Given the description of an element on the screen output the (x, y) to click on. 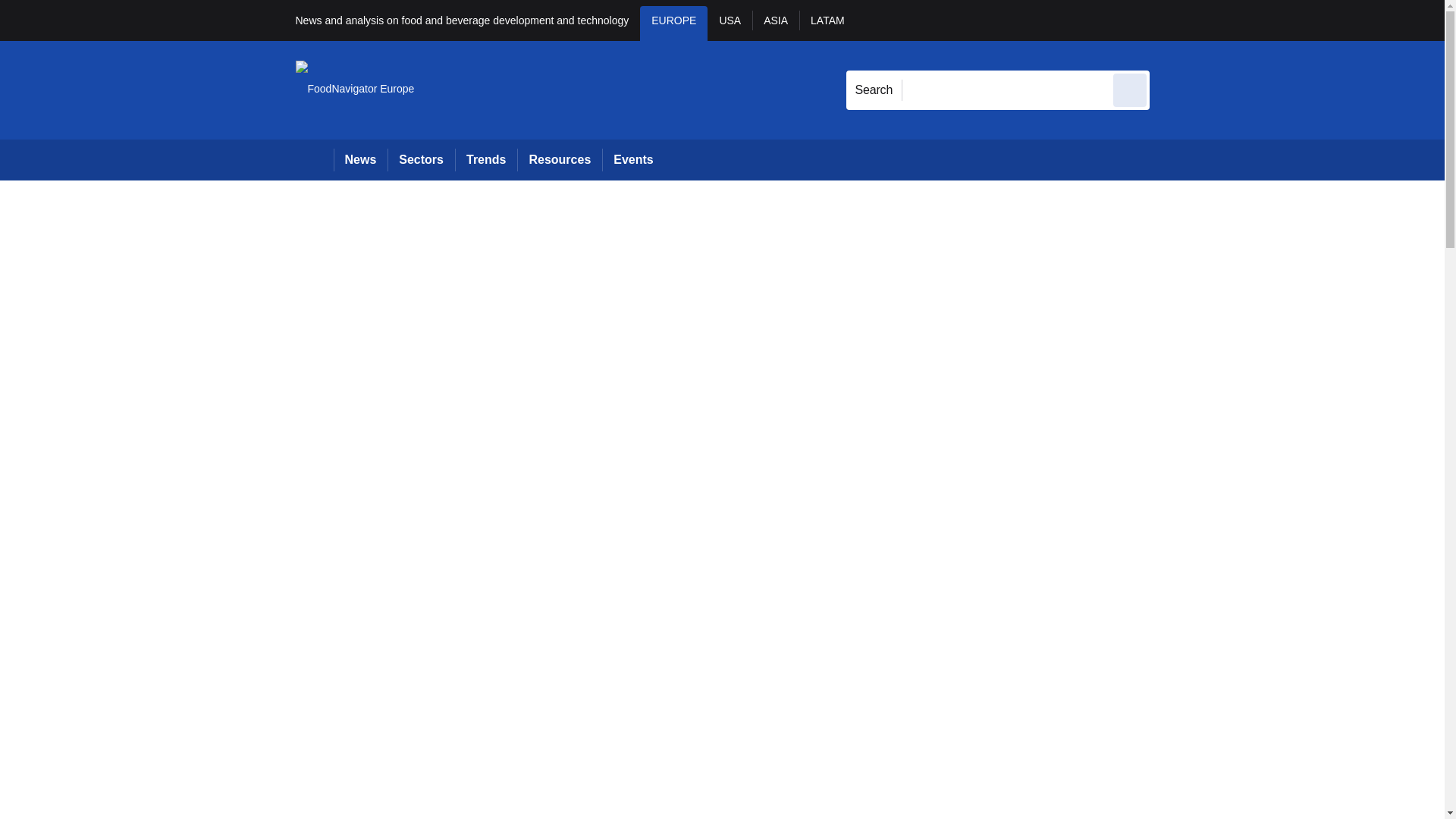
FoodNavigator Europe (354, 89)
USA (729, 22)
Sectors (420, 159)
Sign out (1174, 20)
My account (1256, 20)
Sign in (1171, 20)
Send (1129, 89)
LATAM (827, 22)
Home (313, 159)
ASIA (775, 22)
